Given the description of an element on the screen output the (x, y) to click on. 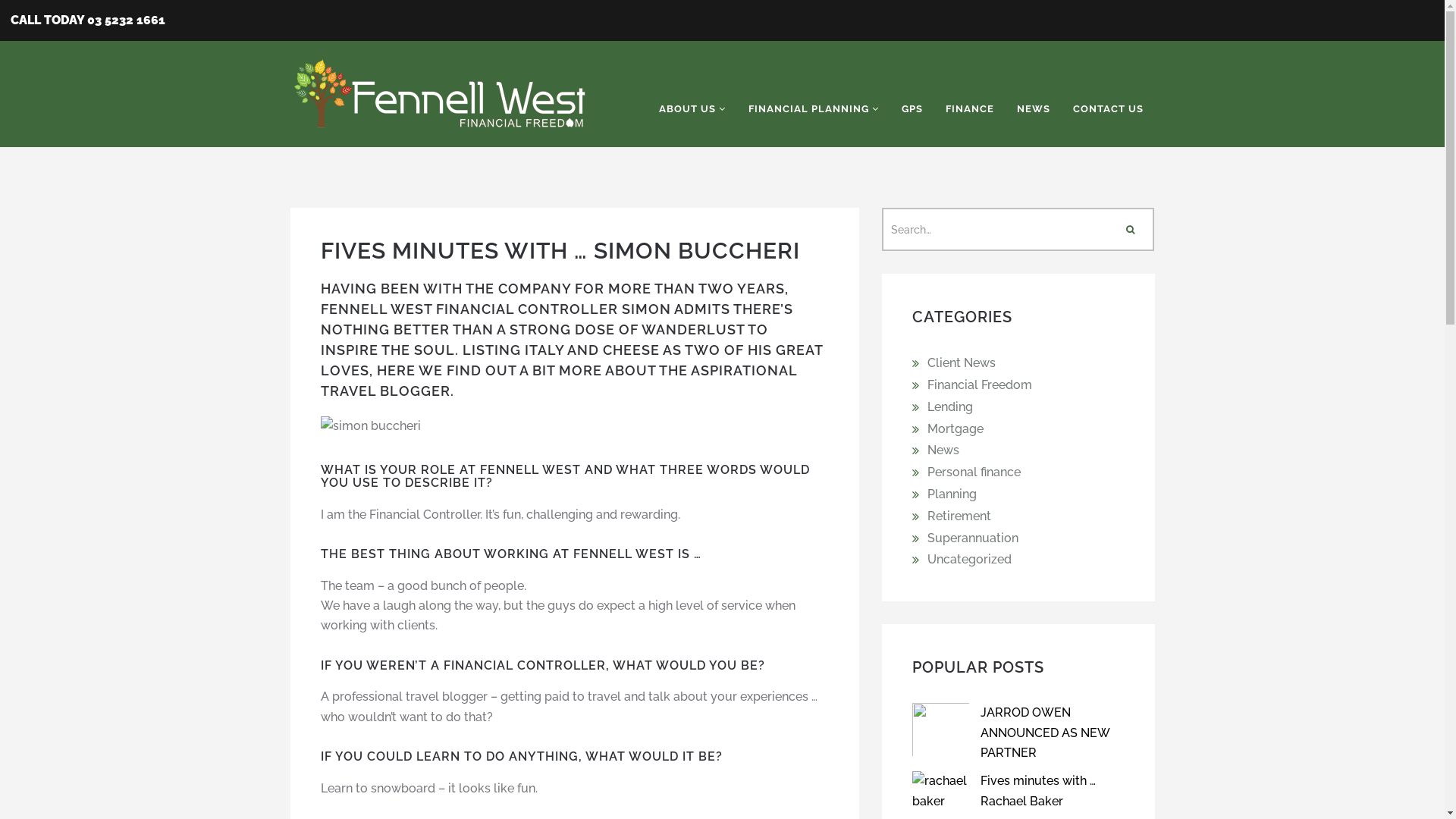
News Element type: text (942, 449)
Lending Element type: text (949, 406)
ABOUT US Element type: text (692, 108)
Mortgage Element type: text (954, 428)
CONTACT US Element type: text (1107, 108)
JARROD OWEN ANNOUNCED AS NEW PARTNER Element type: text (1043, 732)
Financial Freedom Element type: text (978, 384)
Personal finance Element type: text (972, 471)
Superannuation Element type: text (971, 537)
FINANCIAL PLANNING Element type: text (813, 108)
Uncategorized Element type: text (968, 559)
Client News Element type: text (960, 362)
Planning Element type: text (950, 493)
NEWS Element type: text (1033, 108)
FINANCE Element type: text (969, 108)
GPS Element type: text (912, 108)
Retirement Element type: text (958, 515)
